Given the description of an element on the screen output the (x, y) to click on. 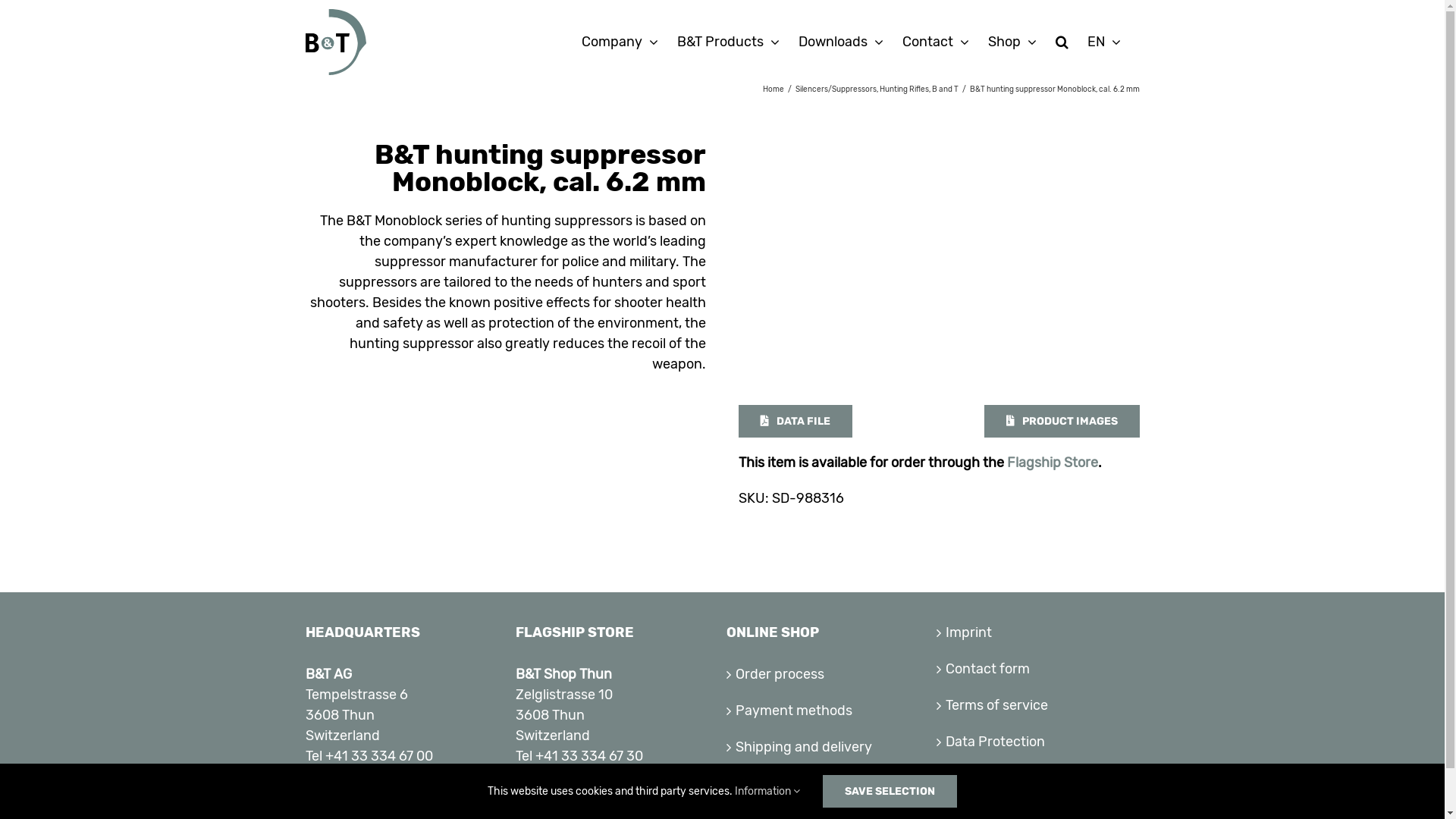
PRODUCT IMAGES Element type: text (1061, 420)
Shop Element type: text (828, 783)
B&T Products Element type: text (727, 41)
Downloads Element type: text (839, 41)
Search Element type: hover (1061, 41)
Contact Element type: text (935, 41)
SAVE SELECTION Element type: text (889, 791)
Flagship Store Element type: text (1052, 462)
Imprint Element type: text (1038, 632)
Shop Element type: text (1011, 41)
Terms of service Element type: text (1038, 705)
Company Element type: text (618, 41)
Shipping and delivery Element type: text (828, 747)
EN Element type: text (1103, 41)
Payment methods Element type: text (828, 710)
Contact form Element type: text (1038, 668)
Information Element type: text (767, 790)
DATA FILE Element type: text (795, 420)
Data Protection Element type: text (1038, 741)
Order process Element type: text (828, 674)
